Given the description of an element on the screen output the (x, y) to click on. 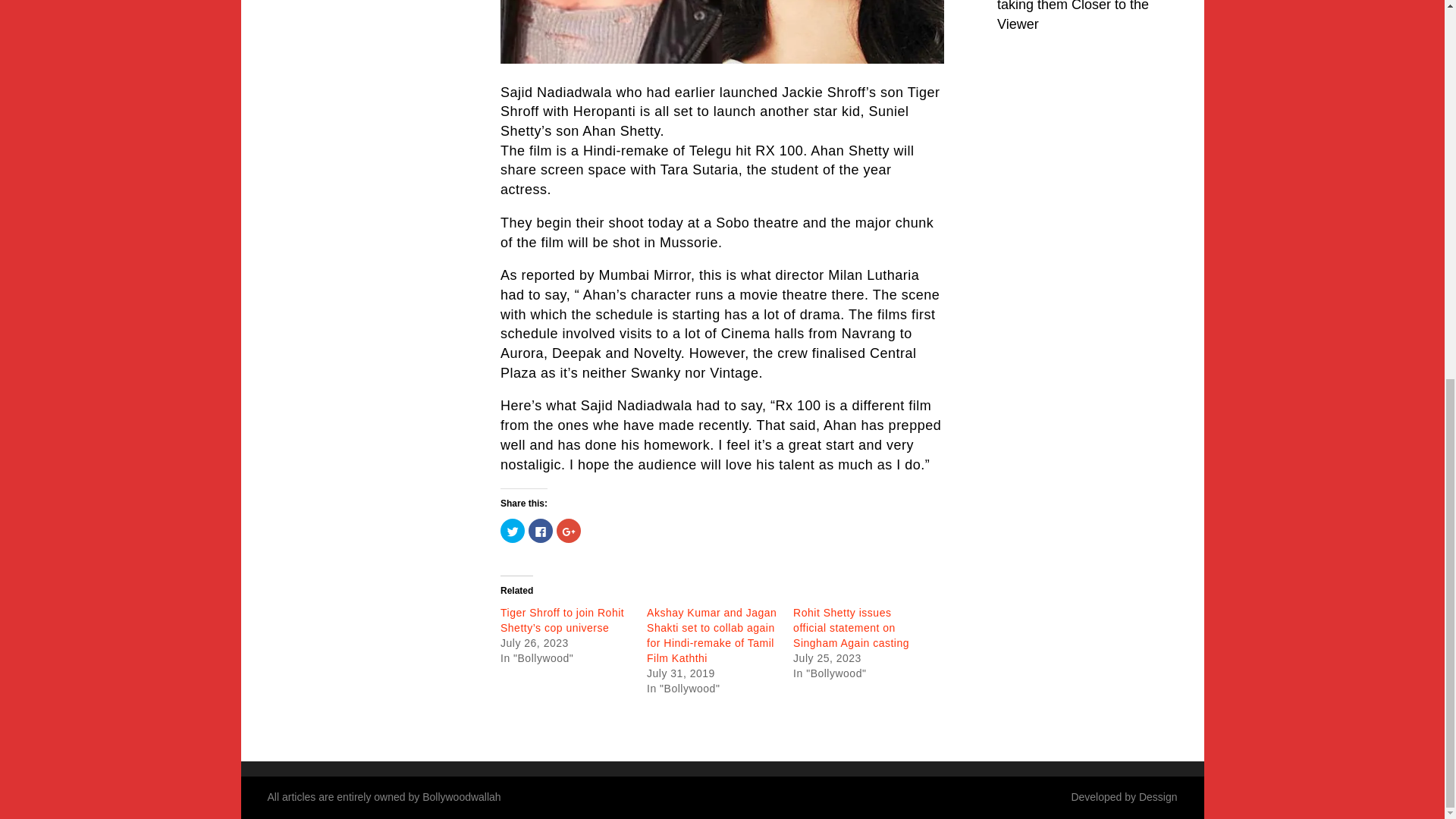
Click to share on Twitter (512, 530)
Click to share on Facebook (540, 530)
Dessign (1157, 797)
